Given the description of an element on the screen output the (x, y) to click on. 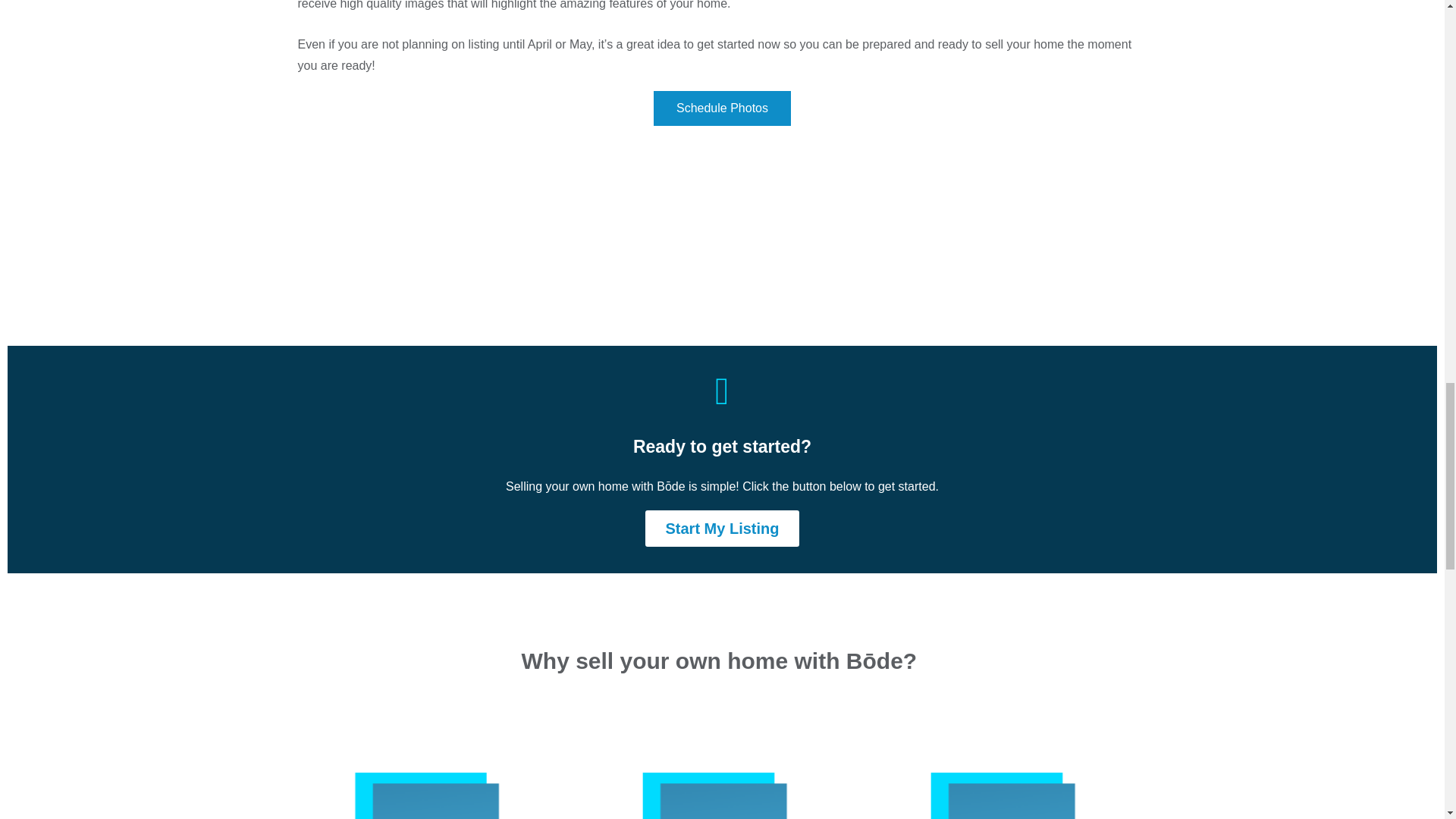
Start My Listing (721, 528)
Schedule Photos (721, 108)
